Given the description of an element on the screen output the (x, y) to click on. 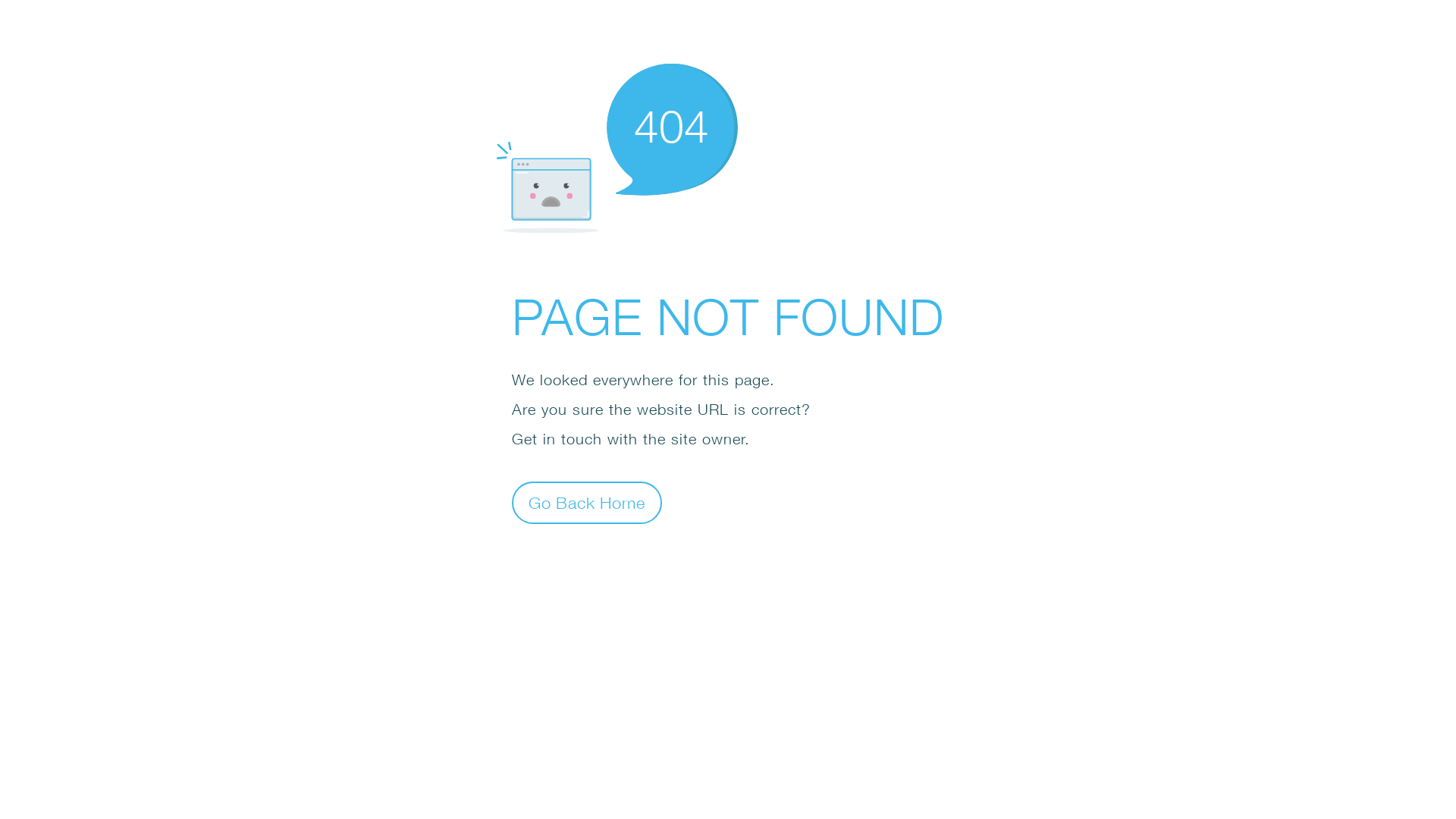
Go Back Home Element type: text (586, 502)
